Given the description of an element on the screen output the (x, y) to click on. 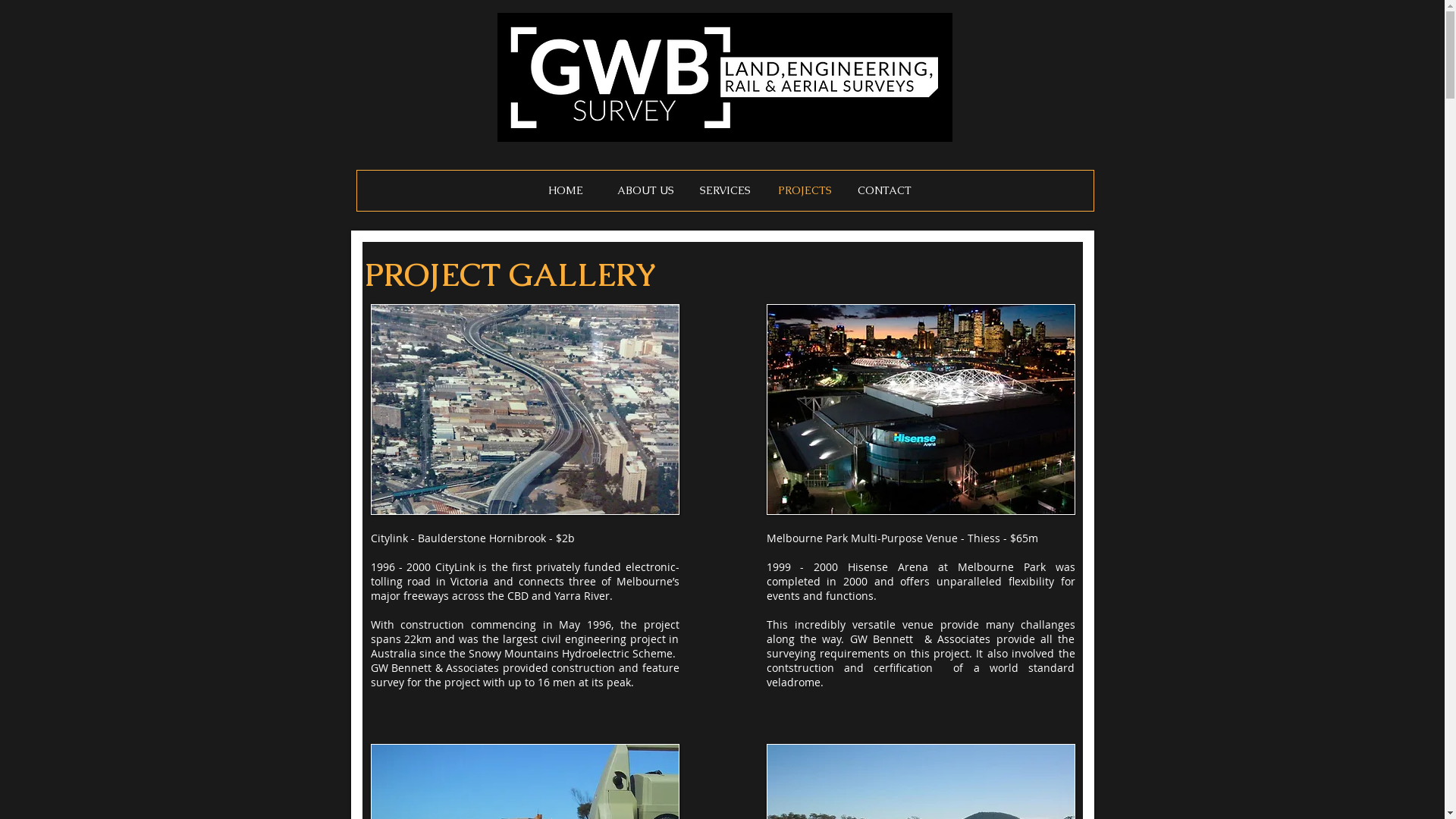
HOME Element type: text (565, 190)
CONTACT Element type: text (884, 190)
PROJECTS Element type: text (804, 190)
SERVICES Element type: text (725, 190)
ABOUT US Element type: text (644, 190)
GWBsurvey_Logo_Landscape_onBlack.png Element type: hover (724, 76)
